Given the description of an element on the screen output the (x, y) to click on. 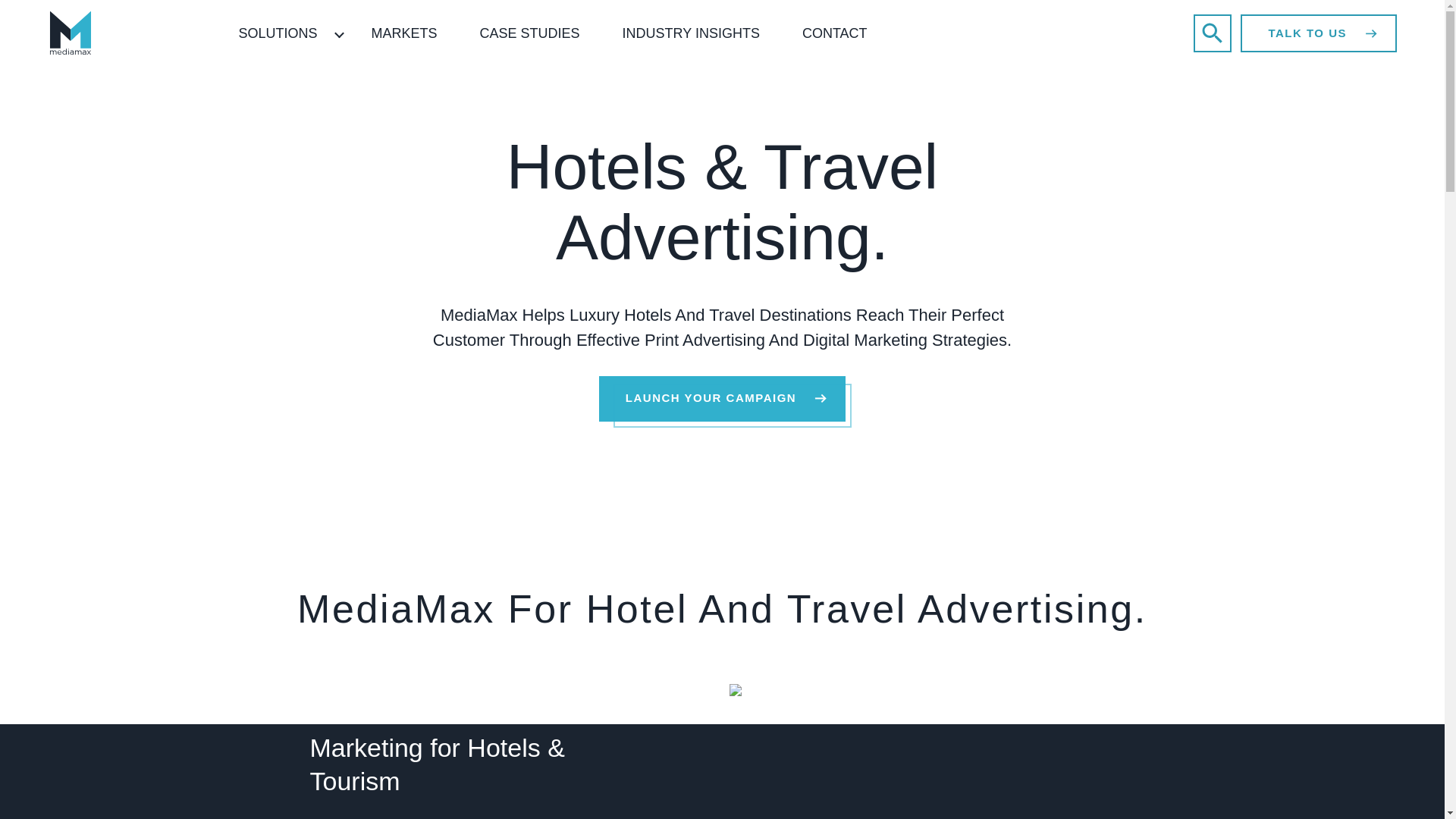
CONTACT (834, 33)
Open Search (1212, 33)
TALK TO US (1318, 33)
LAUNCH YOUR CAMPAIGN (721, 398)
INDUSTRY INSIGHTS (690, 33)
CASE STUDIES (529, 33)
MARKETS (404, 33)
